Given the description of an element on the screen output the (x, y) to click on. 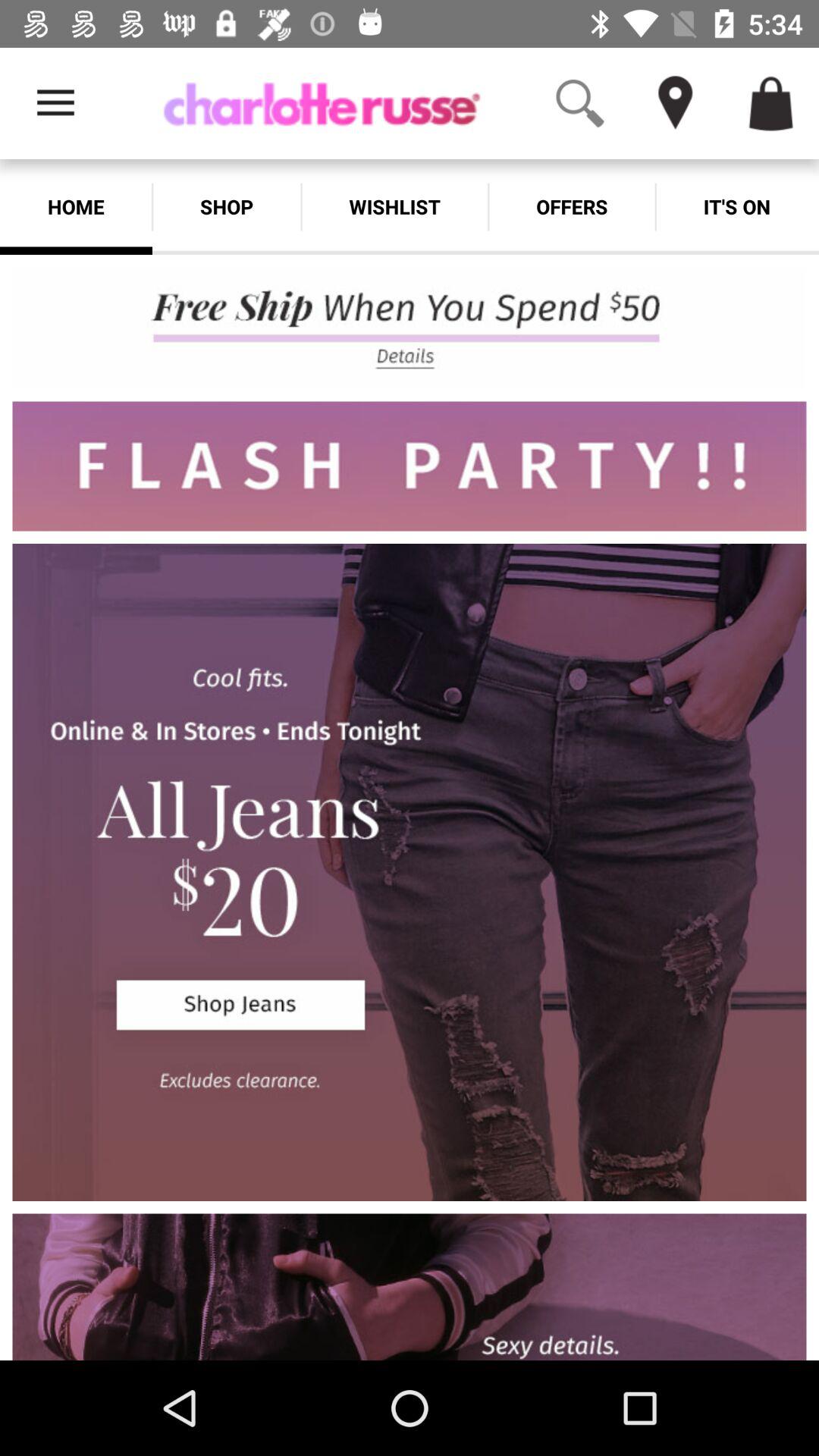
launch the item to the right of the wishlist item (571, 206)
